Given the description of an element on the screen output the (x, y) to click on. 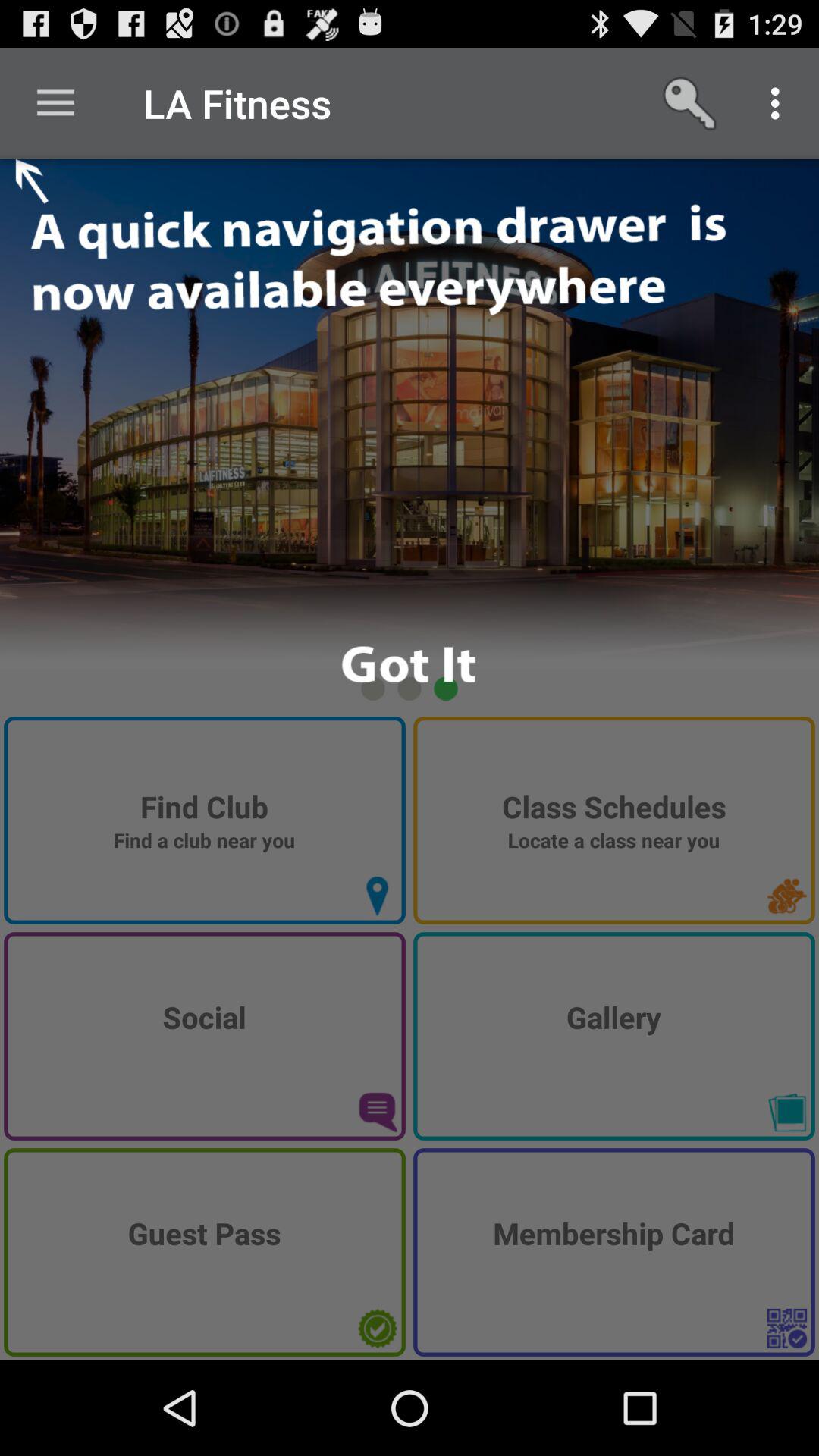
select the chat icon which is below got it on the page (377, 1112)
select the icon right to la fitness (691, 103)
go to icon in second option first row (786, 895)
